Given the description of an element on the screen output the (x, y) to click on. 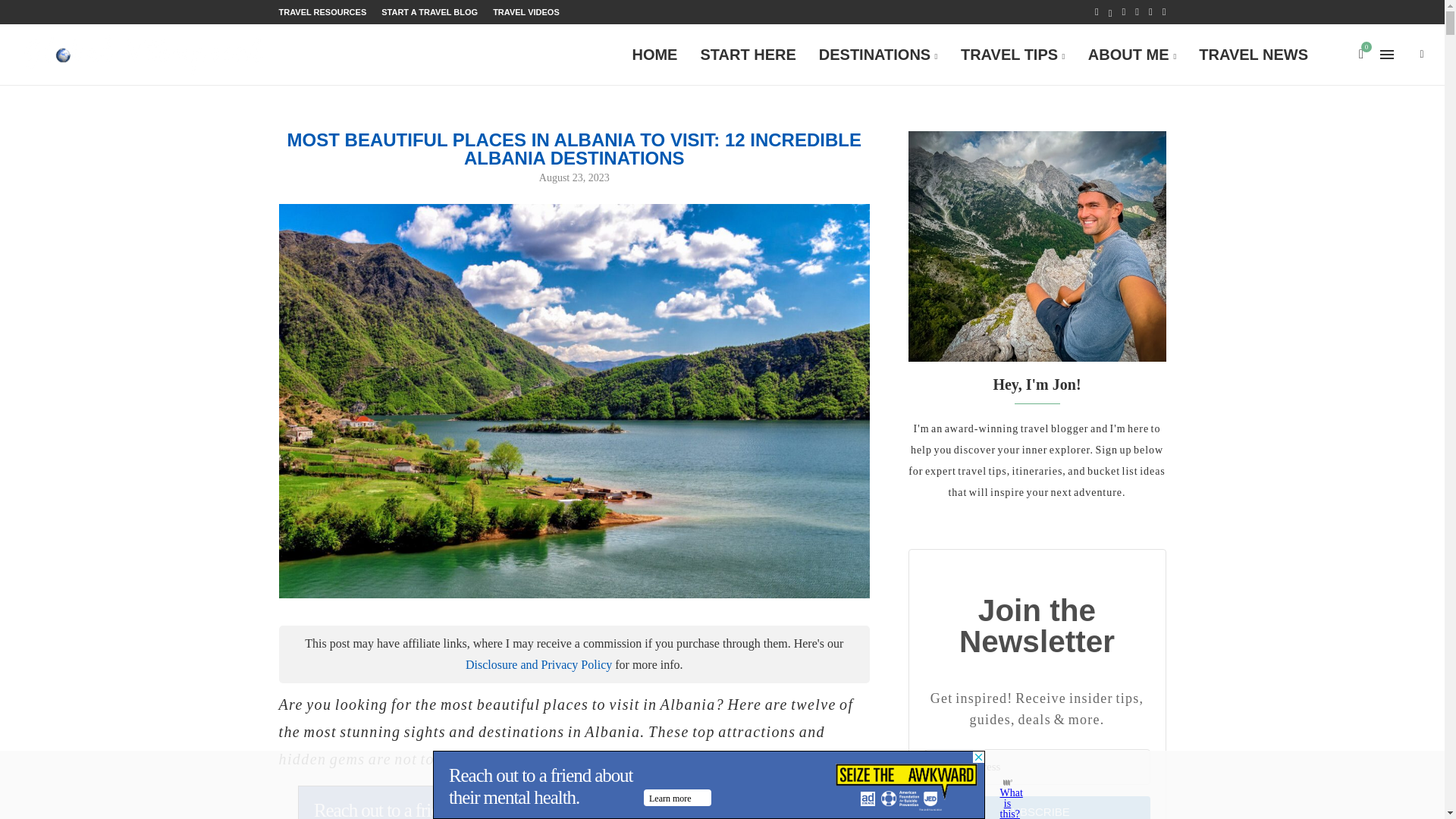
Disclosure and Privacy Policy (538, 664)
TRAVEL NEWS (1253, 54)
ABOUT ME (1132, 54)
START A TRAVEL BLOG (429, 12)
HOME (654, 54)
START HERE (747, 54)
TRAVEL TIPS (1013, 54)
TRAVEL VIDEOS (526, 12)
3rd party ad content (574, 802)
TRAVEL RESOURCES (322, 12)
DESTINATIONS (878, 54)
